Given the description of an element on the screen output the (x, y) to click on. 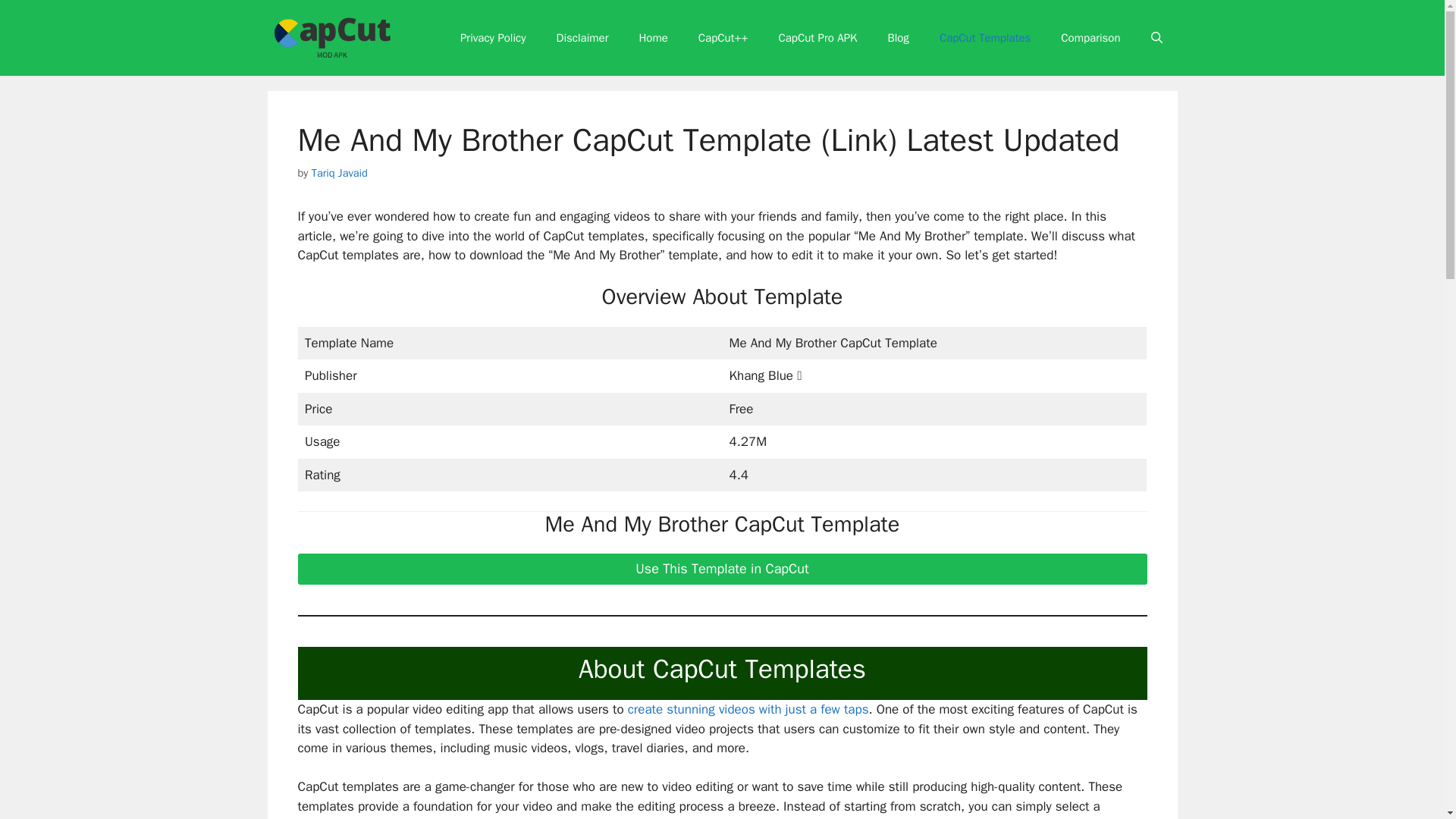
create stunning videos with just a few taps (748, 709)
Disclaimer (582, 37)
Privacy Policy (493, 37)
Use This Template in CapCut (722, 568)
View all posts by Tariq Javaid (339, 172)
CapCut Templates (984, 37)
Blog (897, 37)
Tariq Javaid (339, 172)
CapCut Pro APK (817, 37)
Comparison (1090, 37)
Home (652, 37)
